Given the description of an element on the screen output the (x, y) to click on. 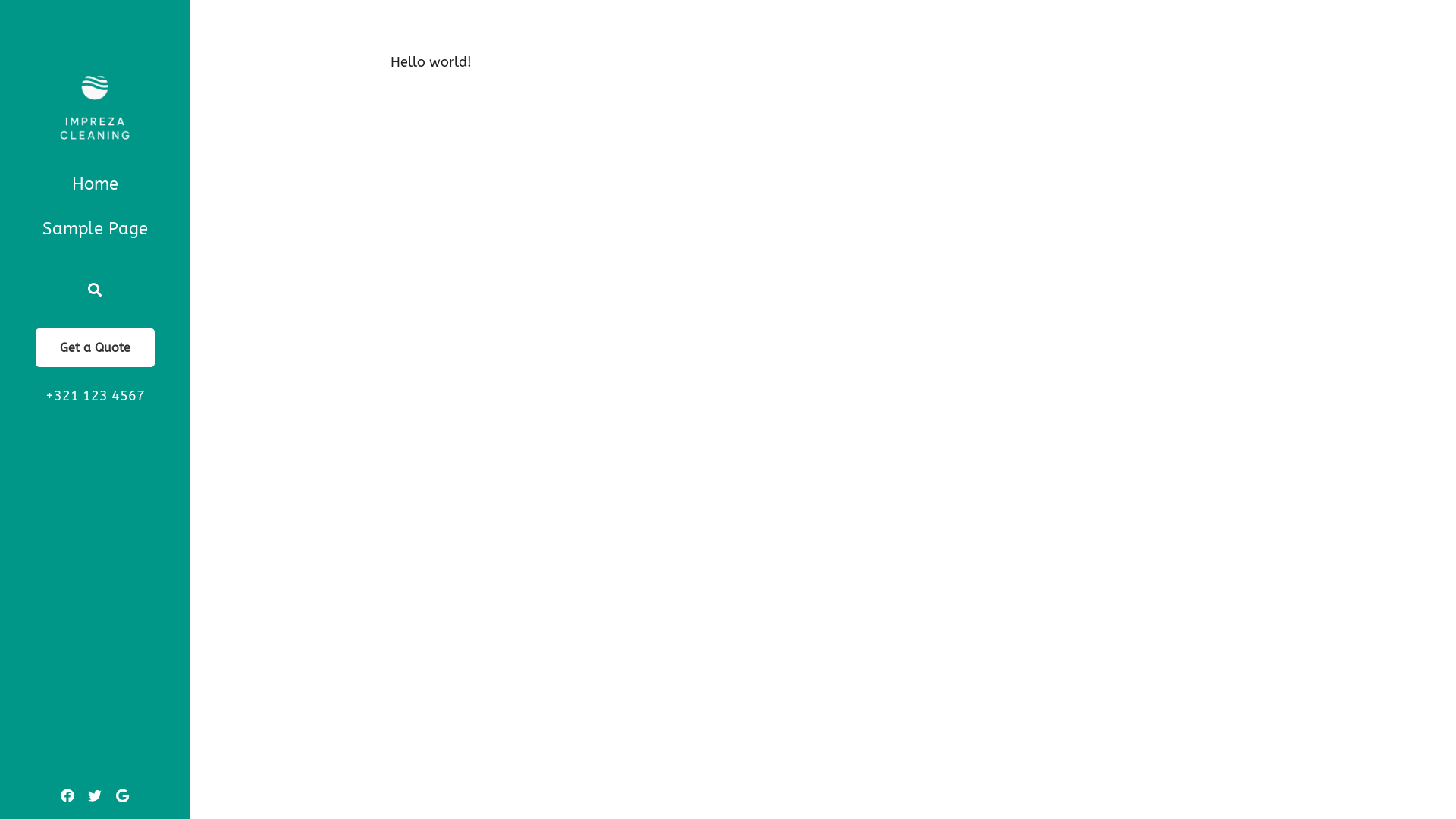
Home Element type: text (94, 185)
Hello world! Element type: text (430, 61)
Get a Quote Element type: text (93, 347)
Twitter Element type: hover (94, 795)
Google Element type: hover (121, 795)
+321 123 4567 Element type: text (94, 395)
Facebook Element type: hover (67, 795)
Sample Page Element type: text (94, 229)
